Given the description of an element on the screen output the (x, y) to click on. 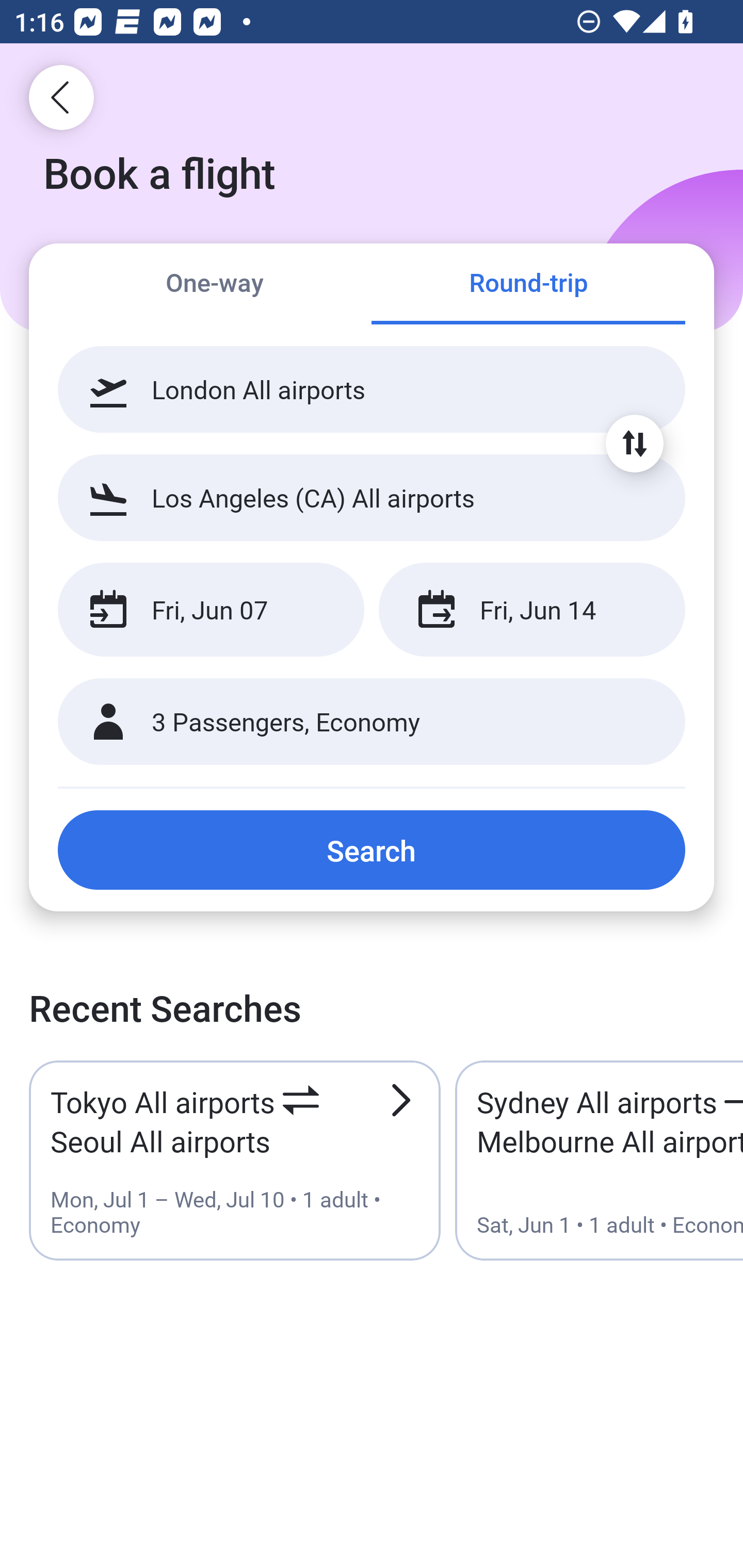
One-way (214, 284)
London All airports (371, 389)
Los Angeles (CA) All airports (371, 497)
Fri, Jun 07 (210, 609)
Fri, Jun 14 (531, 609)
3 Passengers, Economy (371, 721)
Search (371, 849)
